Given the description of an element on the screen output the (x, y) to click on. 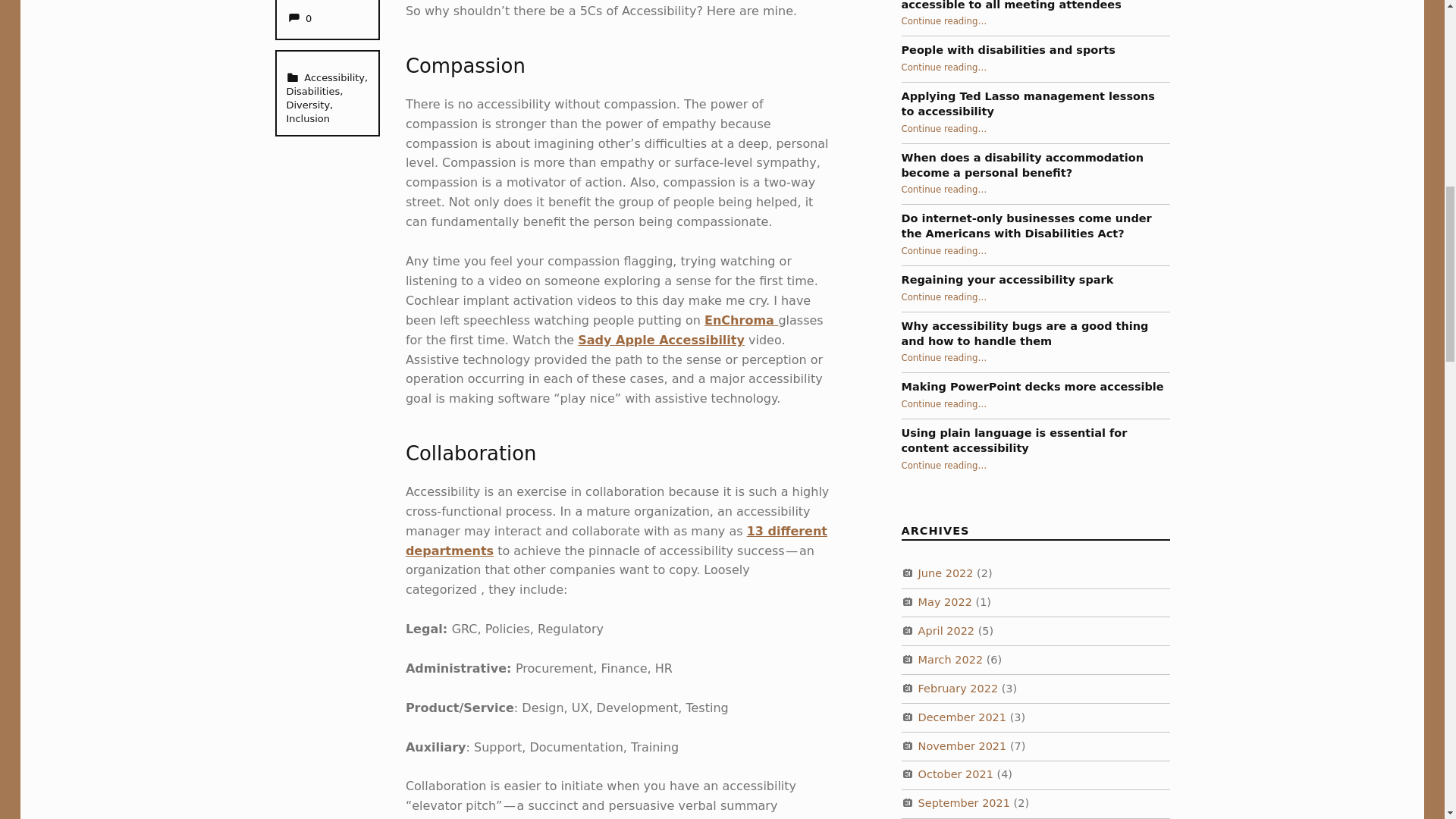
Sady Apple Accessibility (661, 339)
EnChroma  (740, 319)
Diversity (307, 104)
Accessibility (334, 77)
13 different departments (616, 540)
Disabilities (312, 91)
Comments: 0 (298, 18)
Inclusion (298, 18)
